Given the description of an element on the screen output the (x, y) to click on. 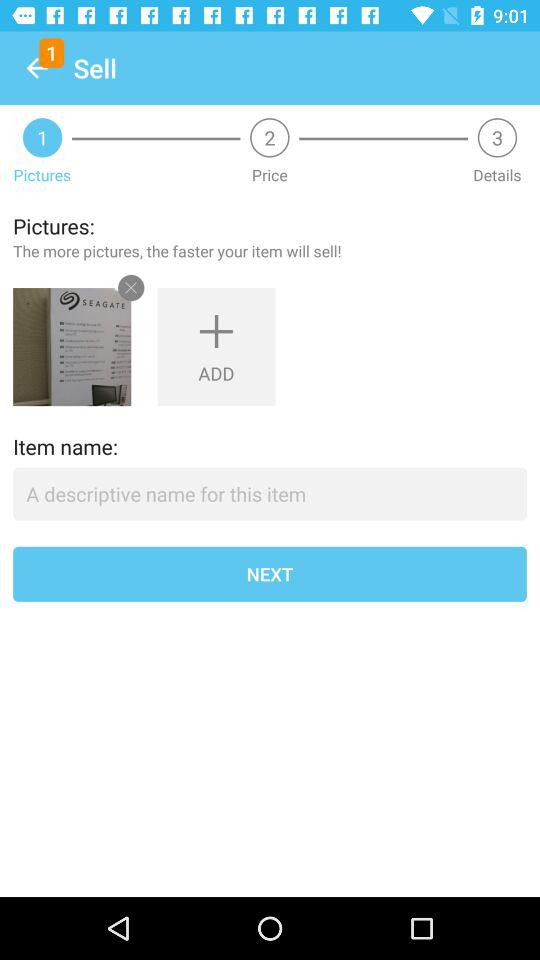
turn off item above the 1 (36, 68)
